Given the description of an element on the screen output the (x, y) to click on. 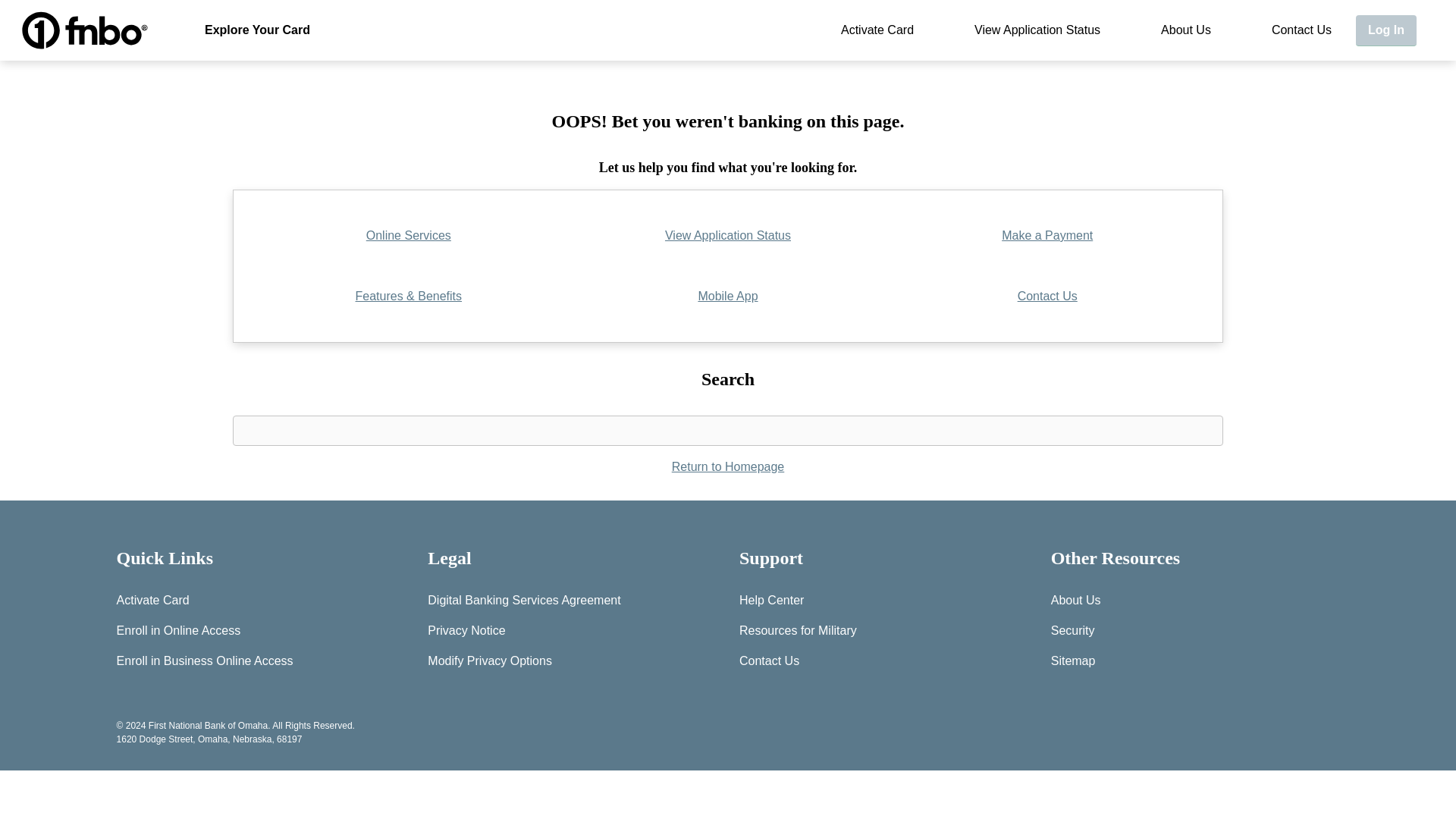
Activate Card (877, 30)
View Application Status (1037, 30)
About Us (1185, 30)
Log In (1385, 30)
Explore Your Card (257, 30)
Activate Card (877, 30)
Online Services (408, 235)
View Application Status (1037, 30)
Contact Us (1301, 30)
